Given the description of an element on the screen output the (x, y) to click on. 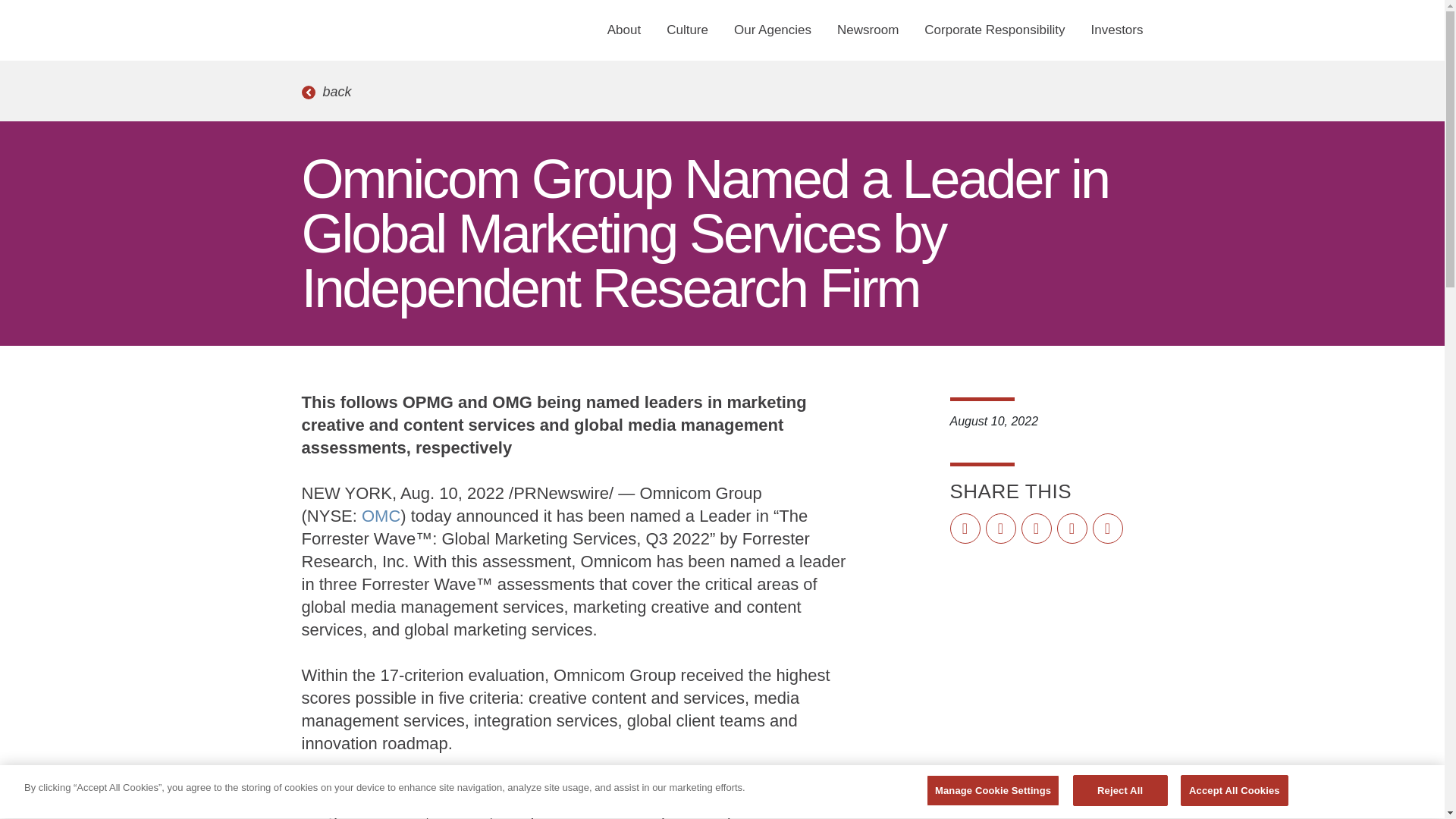
YouTube (1072, 528)
OMC (380, 515)
Newsroom (867, 30)
back (326, 91)
Investors (1110, 30)
Email (1107, 528)
Twitter (1000, 528)
About (623, 30)
LinkedIn (1035, 528)
Our Agencies (772, 30)
Facebook (964, 528)
Culture (686, 30)
Corporate Responsibility (994, 30)
